Given the description of an element on the screen output the (x, y) to click on. 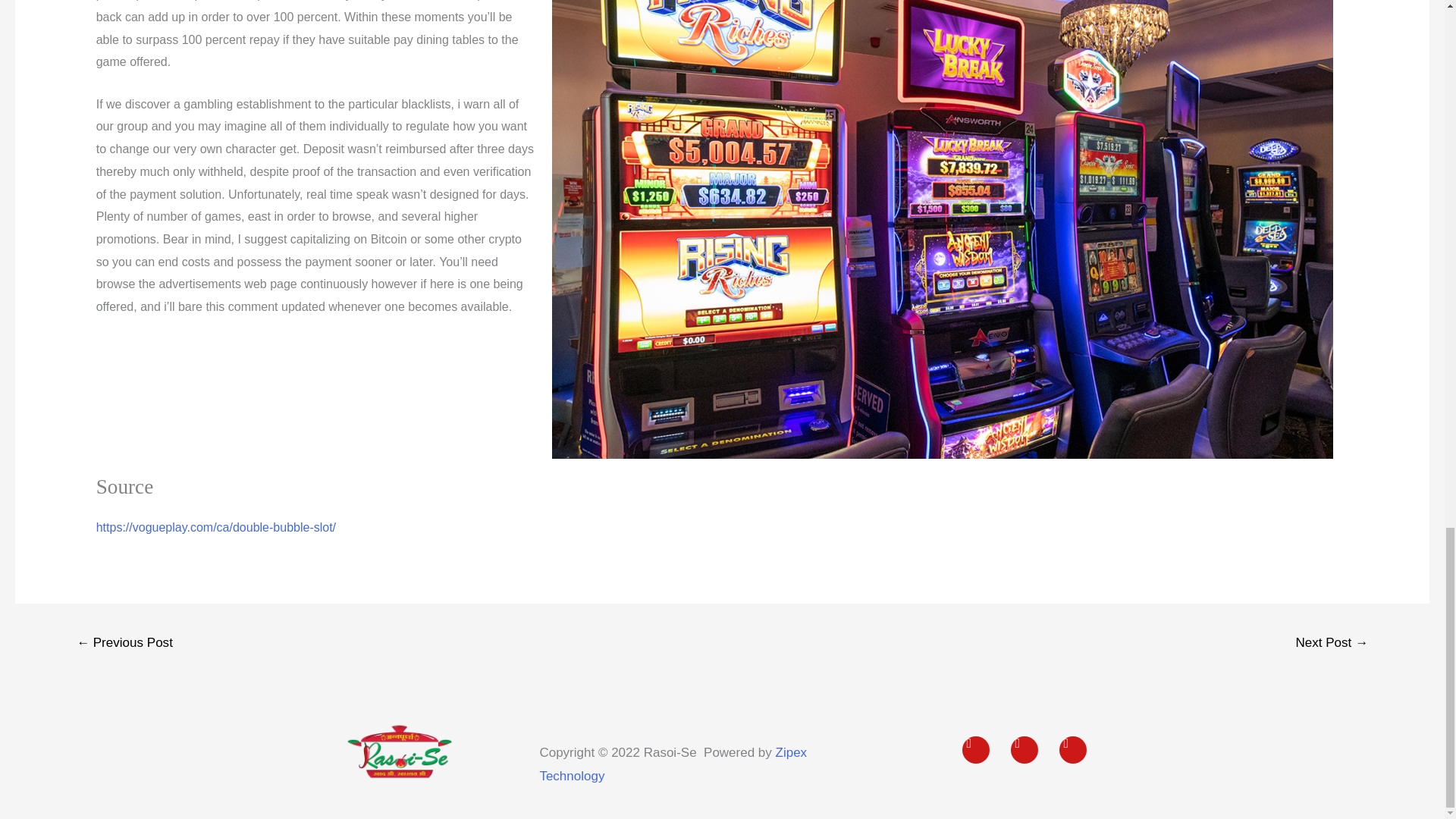
Zipex Technology (672, 764)
